Given the description of an element on the screen output the (x, y) to click on. 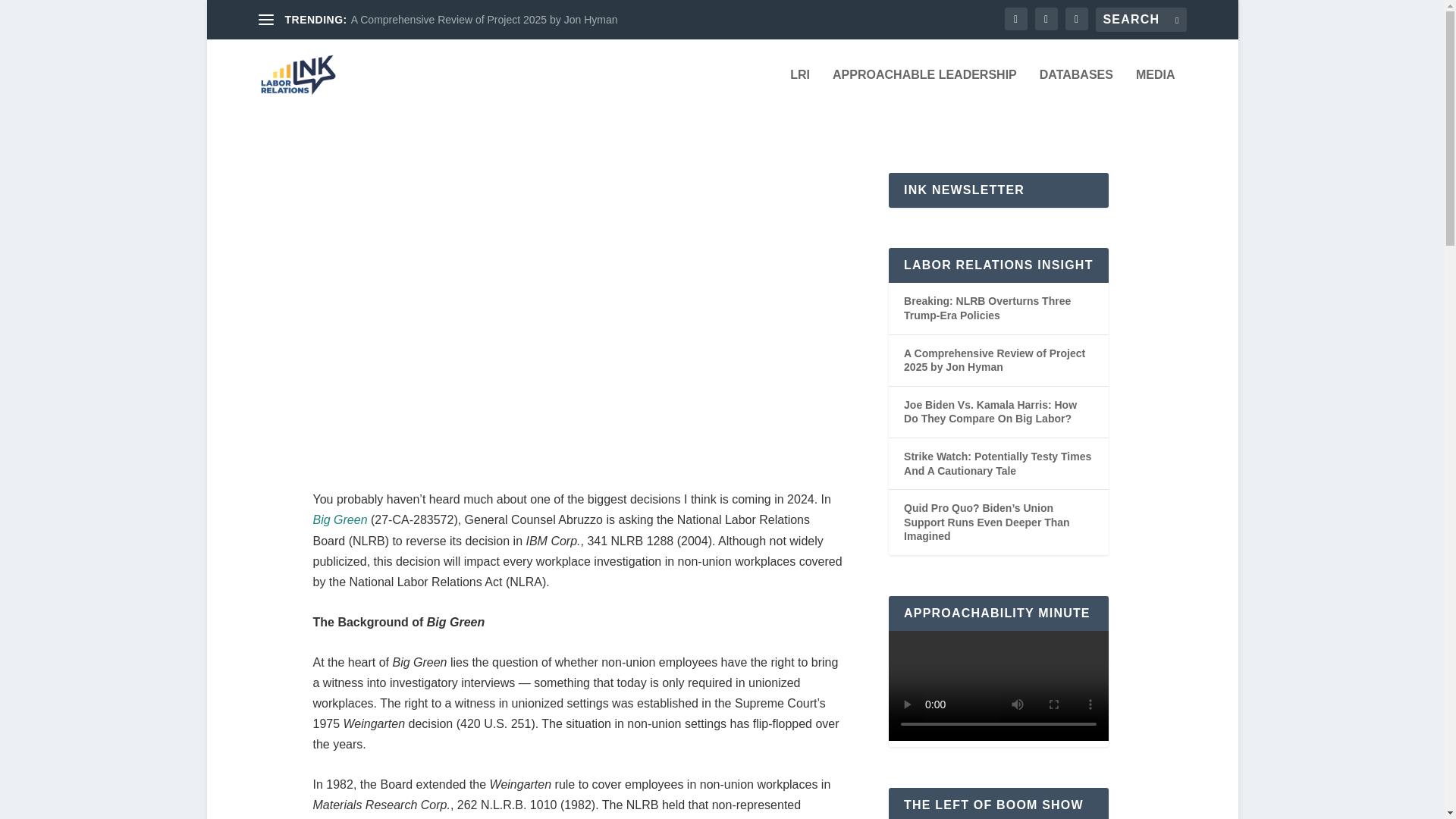
Posts by Phillip Wilson (425, 338)
A Comprehensive Review of Project 2025 by Jon Hyman (483, 19)
